Given the description of an element on the screen output the (x, y) to click on. 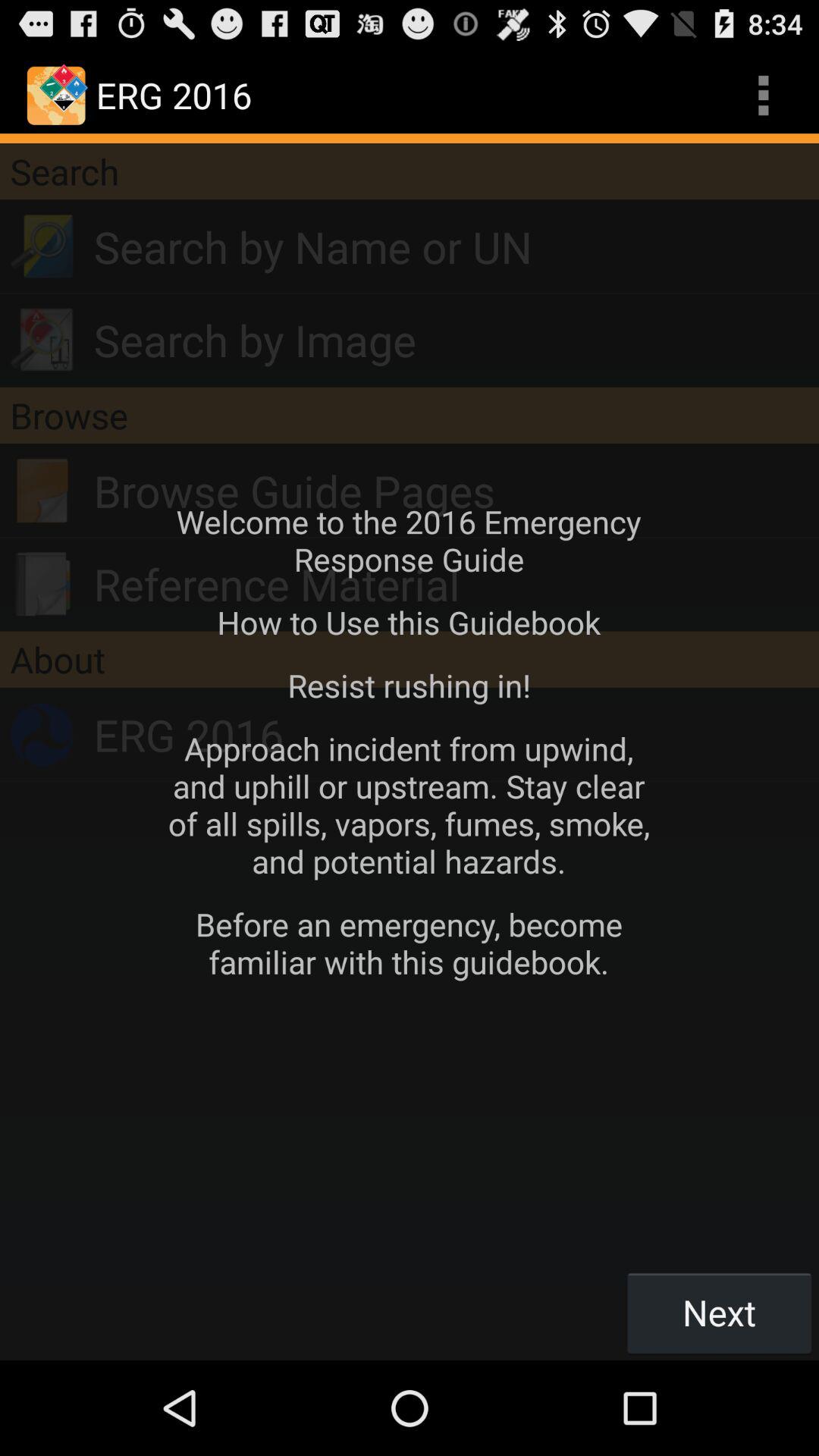
click on three vertical dots at top right corner of the web page (763, 95)
click on search icon below search (42, 247)
